Given the description of an element on the screen output the (x, y) to click on. 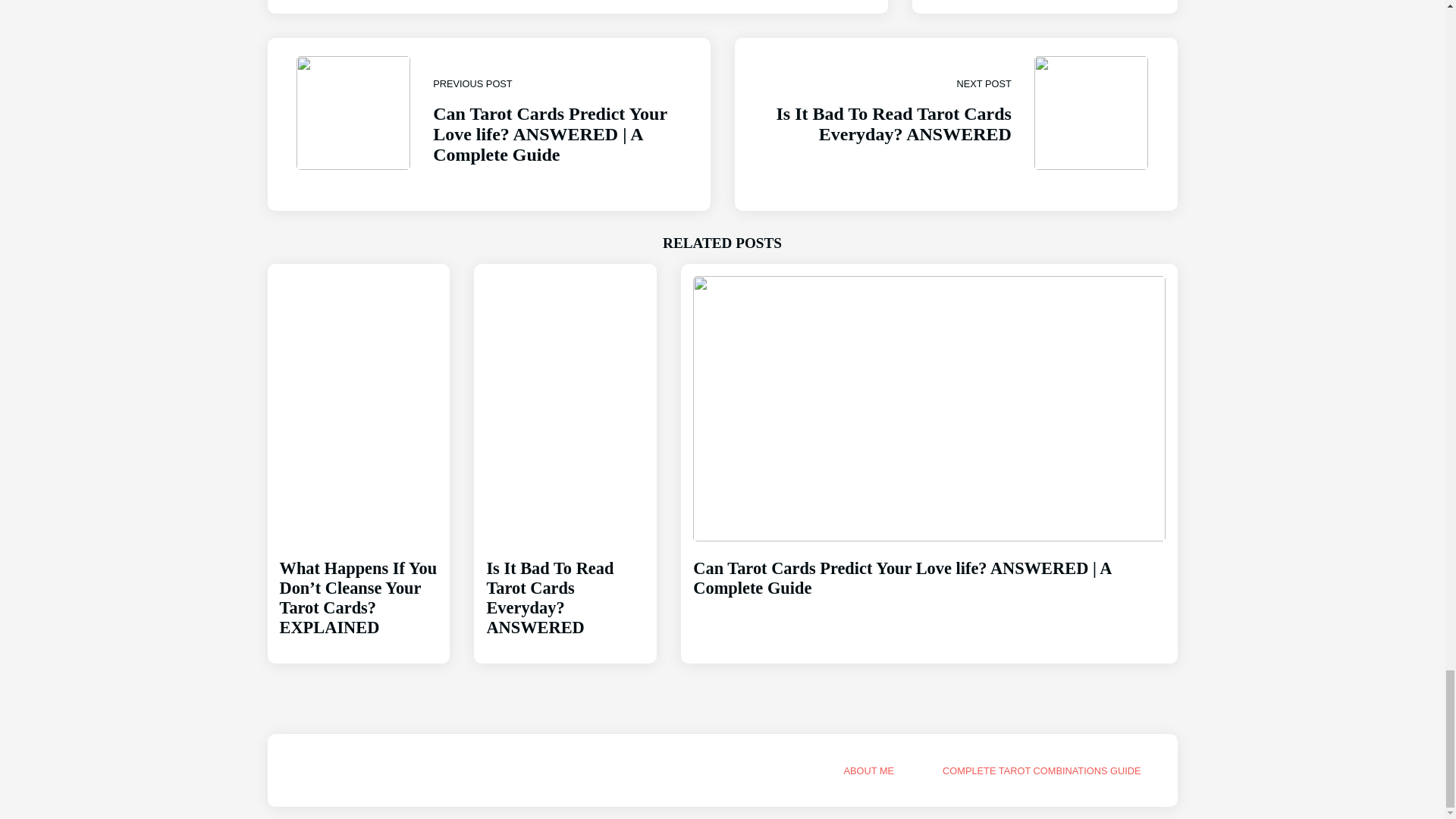
Is It Bad To Read Tarot Cards Everyday? ANSWERED (565, 584)
COMPLETE TAROT COMBINATIONS GUIDE (954, 124)
Is It Bad To Read Tarot Cards Everyday? ANSWERED (1041, 770)
ABOUT ME (565, 584)
